Given the description of an element on the screen output the (x, y) to click on. 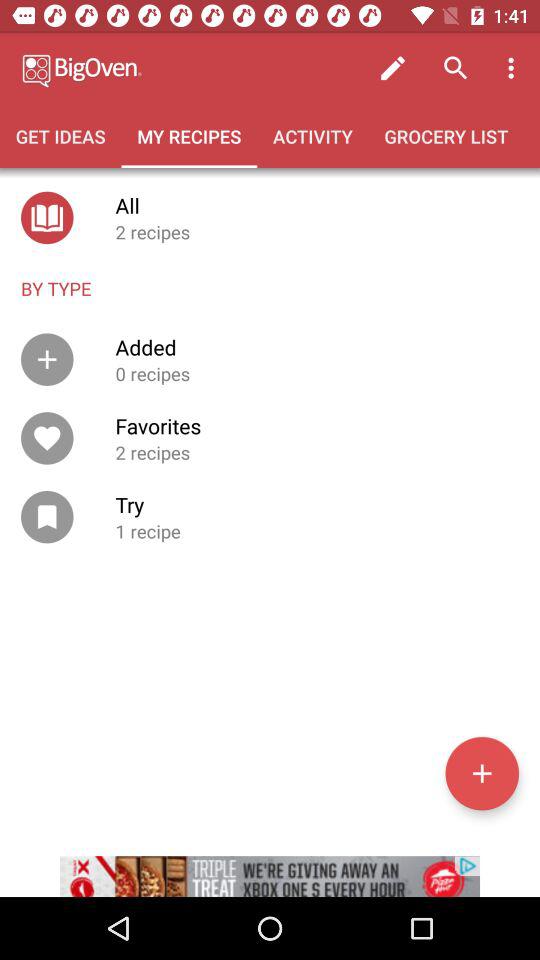
add option (482, 773)
